Given the description of an element on the screen output the (x, y) to click on. 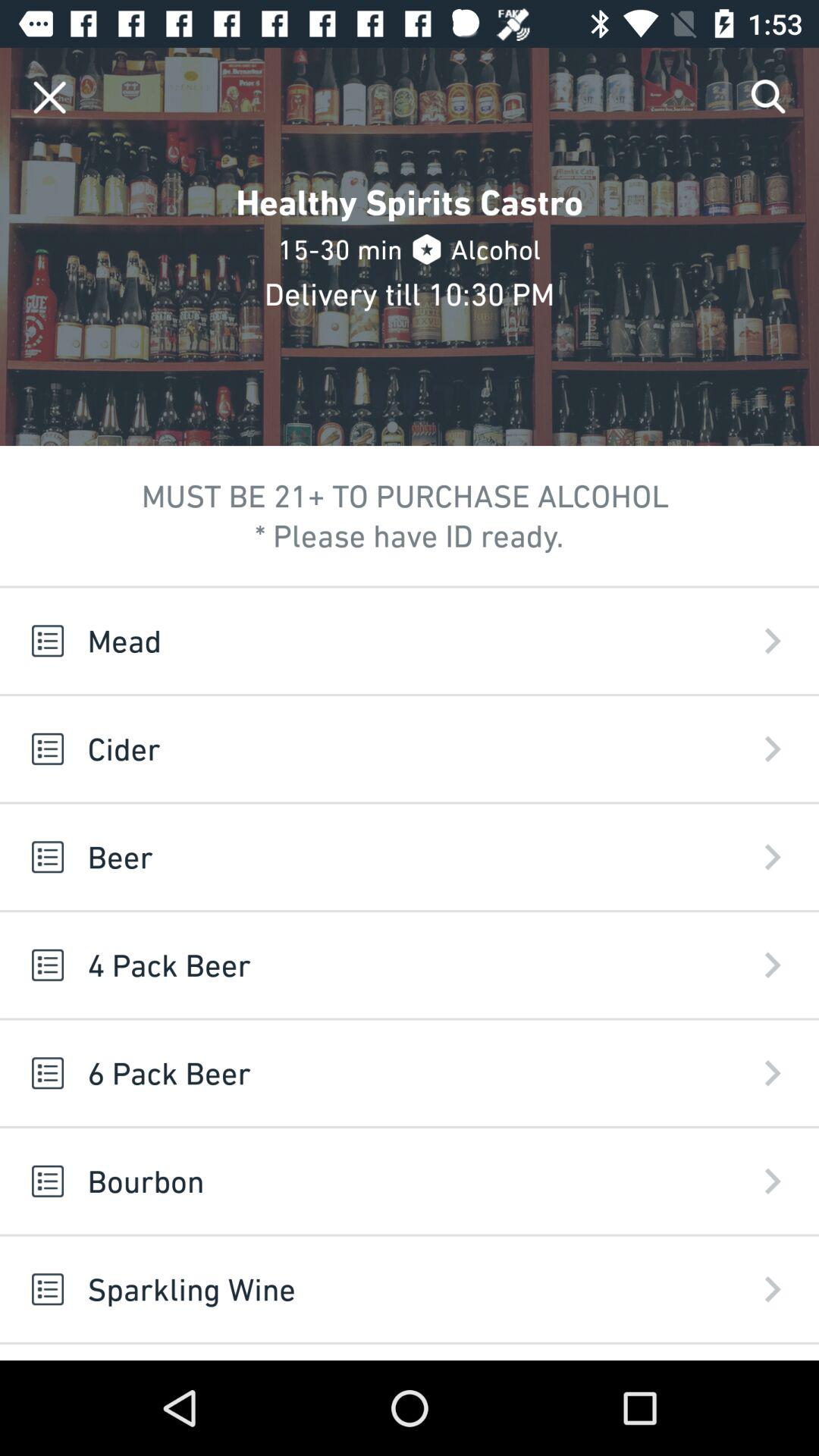
close (49, 97)
